Given the description of an element on the screen output the (x, y) to click on. 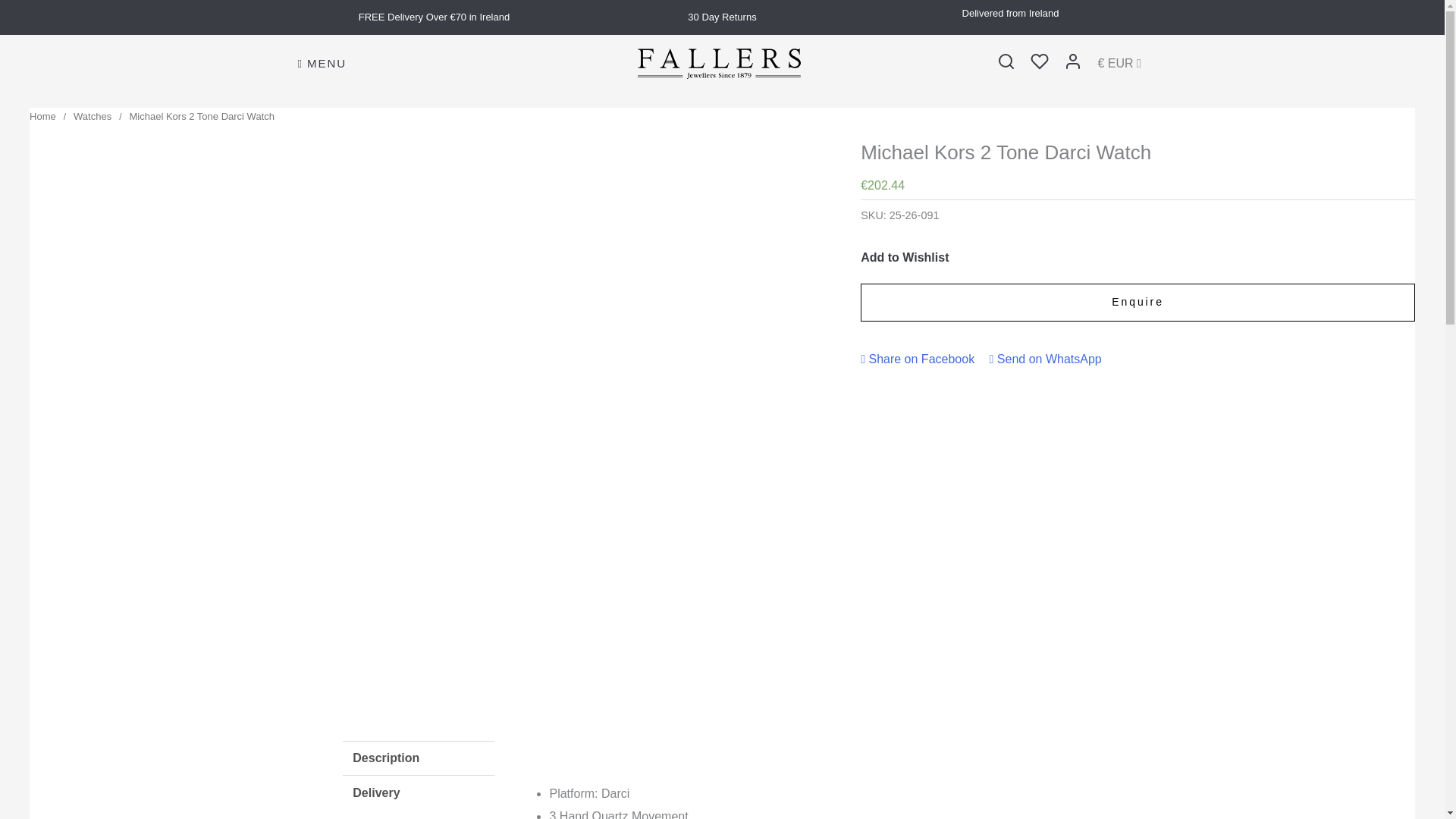
Share on Facebook (917, 358)
Delivery (418, 792)
Watches (93, 116)
Send on WhatsApp (1046, 358)
Enquire (1137, 302)
Add to Wishlist (904, 257)
MENU (321, 63)
Home (42, 116)
Description (418, 758)
